Given the description of an element on the screen output the (x, y) to click on. 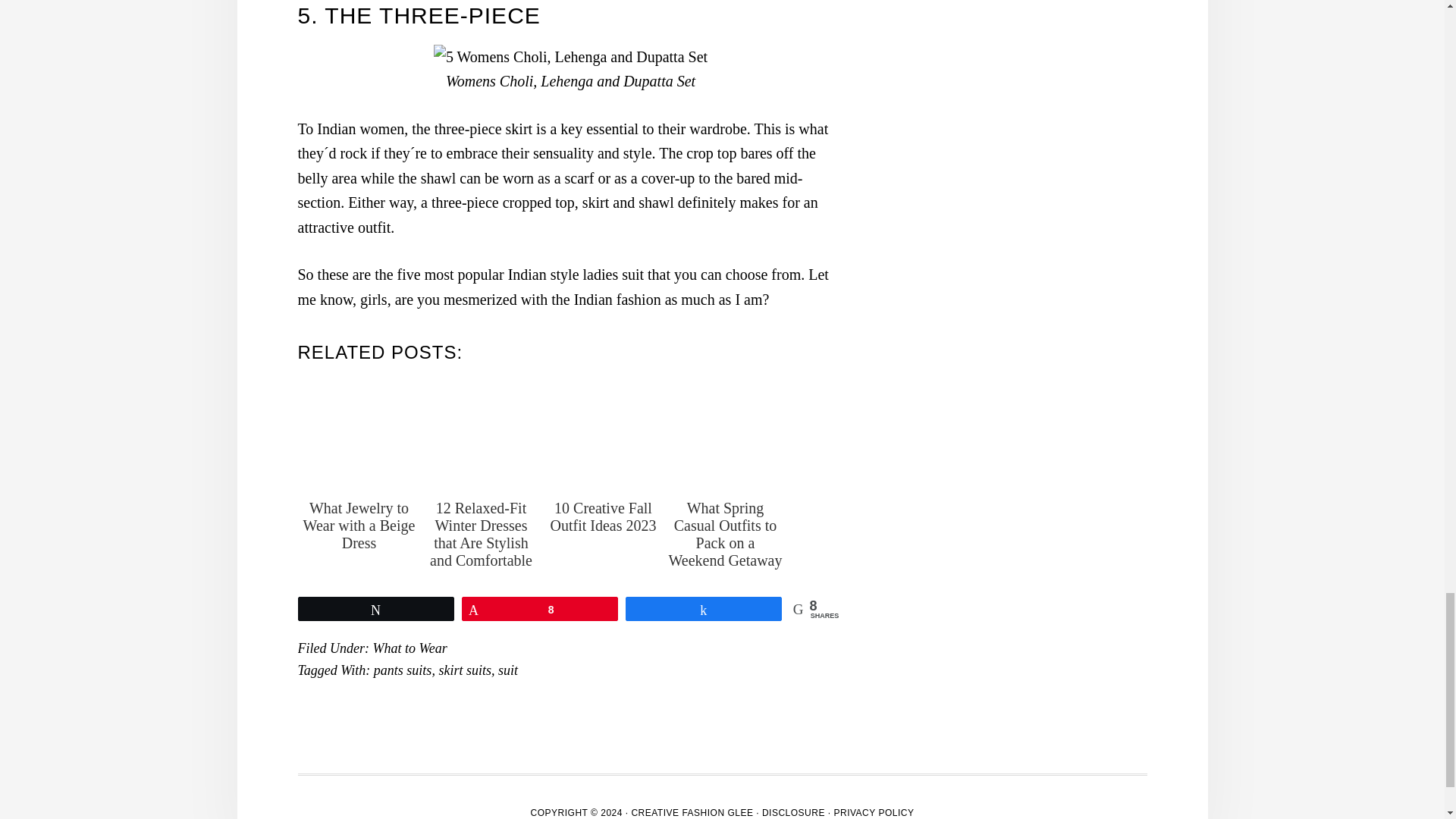
skirt suits (465, 670)
8 (540, 608)
What to Wear (409, 648)
pants suits (403, 670)
